Given the description of an element on the screen output the (x, y) to click on. 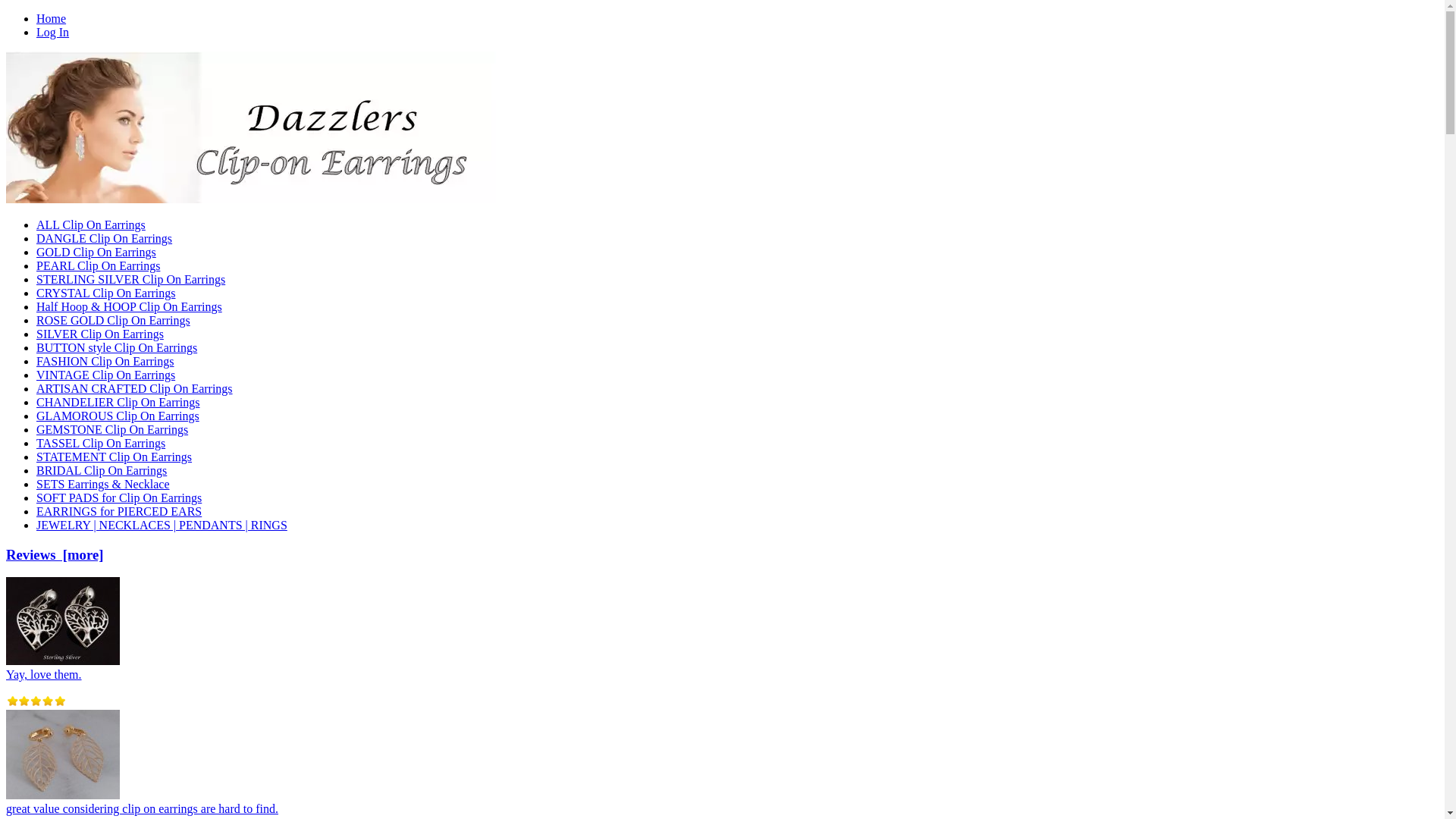
Gold Clip On Earrings, Leaf Design, Fashion Clipon Earrings Element type: hover (62, 754)
STERLING SILVER Clip On Earrings Element type: text (130, 279)
EARRINGS for PIERCED EARS Element type: text (118, 511)
BUTTON style Clip On Earrings Element type: text (116, 347)
great value considering clip on earrings are hard to find. Element type: text (142, 801)
STATEMENT Clip On Earrings Element type: text (113, 456)
Half Hoop & HOOP Clip On Earrings Element type: text (129, 306)
FASHION Clip On Earrings Element type: text (104, 360)
VINTAGE Clip On Earrings Element type: text (105, 374)
5 of 5 Stars! Element type: hover (36, 700)
BRIDAL Clip On Earrings Element type: text (101, 470)
SOFT PADS for Clip On Earrings Element type: text (118, 497)
GOLD Clip On Earrings Element type: text (96, 251)
PEARL Clip On Earrings Element type: text (98, 265)
Reviews  [more] Element type: text (54, 554)
SILVER Clip On Earrings Element type: text (99, 333)
Log In Element type: text (52, 31)
TASSEL Clip On Earrings Element type: text (100, 442)
GLAMOROUS Clip On Earrings Element type: text (117, 415)
ALL Clip On Earrings Element type: text (90, 224)
ROSE GOLD Clip On Earrings Element type: text (113, 319)
ARTISAN CRAFTED Clip On Earrings Element type: text (134, 388)
CHANDELIER Clip On Earrings Element type: text (118, 401)
Home Element type: text (50, 18)
Clip On Earrings Element type: hover (250, 127)
JEWELRY | NECKLACES | PENDANTS | RINGS Element type: text (161, 524)
Sterling Silver Clip On Earrings, Tree of Life, Heart Shape Element type: hover (62, 621)
CRYSTAL Clip On Earrings Element type: text (105, 292)
GEMSTONE Clip On Earrings Element type: text (112, 429)
SETS Earrings & Necklace Element type: text (102, 483)
DANGLE Clip On Earrings Element type: text (104, 238)
Yay, love them. Element type: text (62, 667)
